Given the description of an element on the screen output the (x, y) to click on. 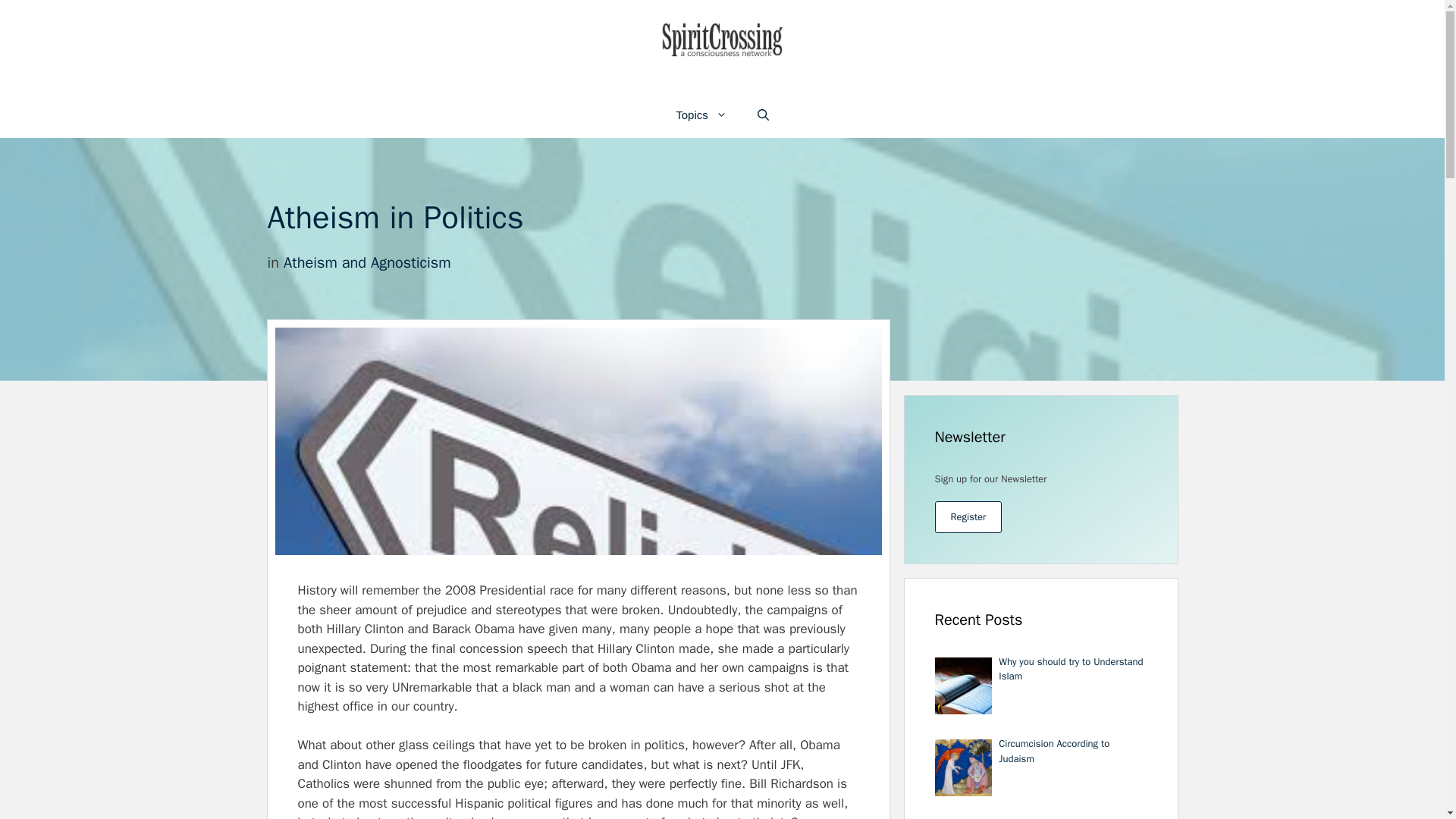
Topics (701, 115)
